Given the description of an element on the screen output the (x, y) to click on. 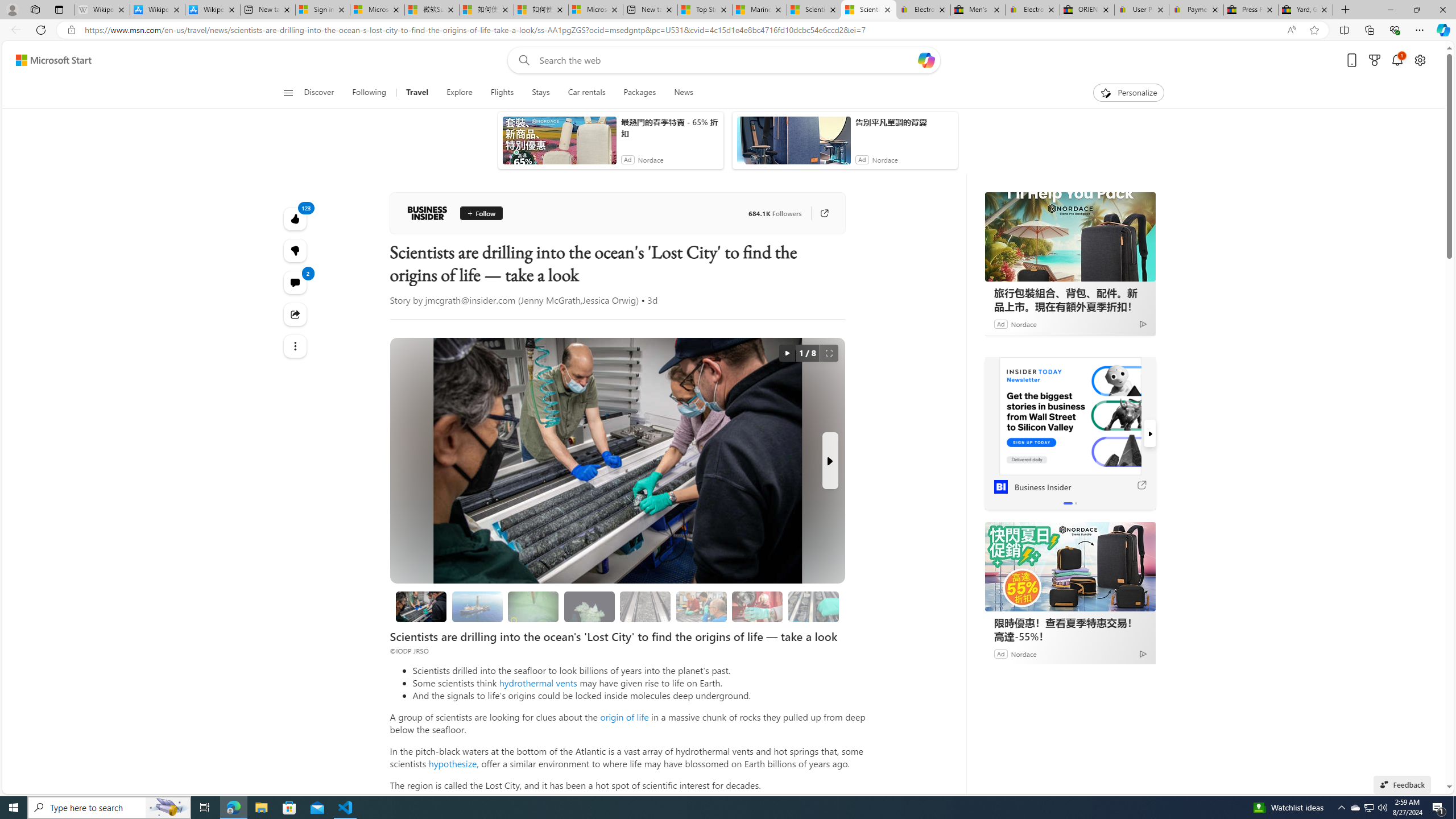
Stays (540, 92)
